Given the description of an element on the screen output the (x, y) to click on. 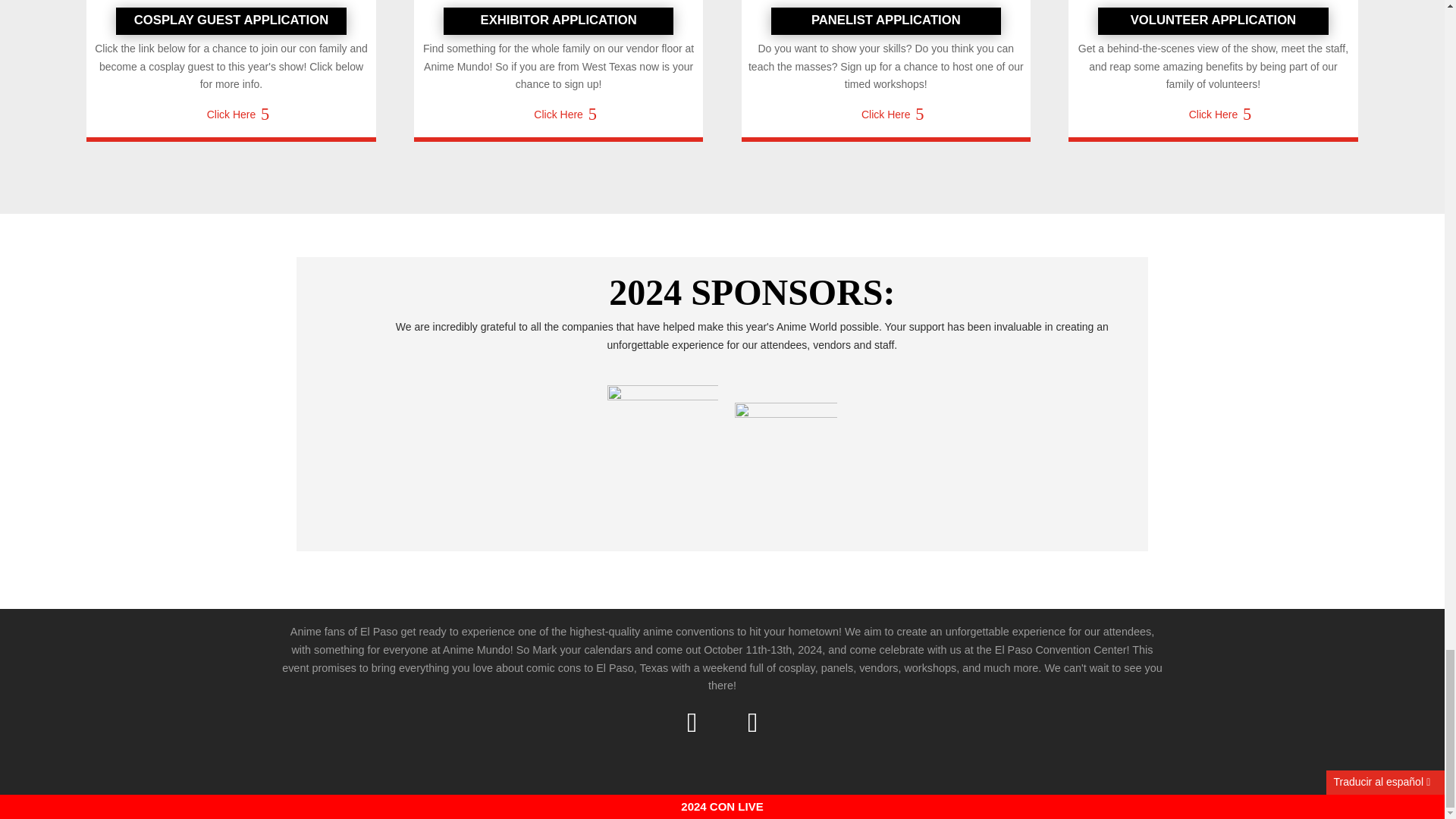
Click Here (1214, 115)
Click Here (558, 115)
Click Here (231, 121)
Click Here (886, 115)
